Given the description of an element on the screen output the (x, y) to click on. 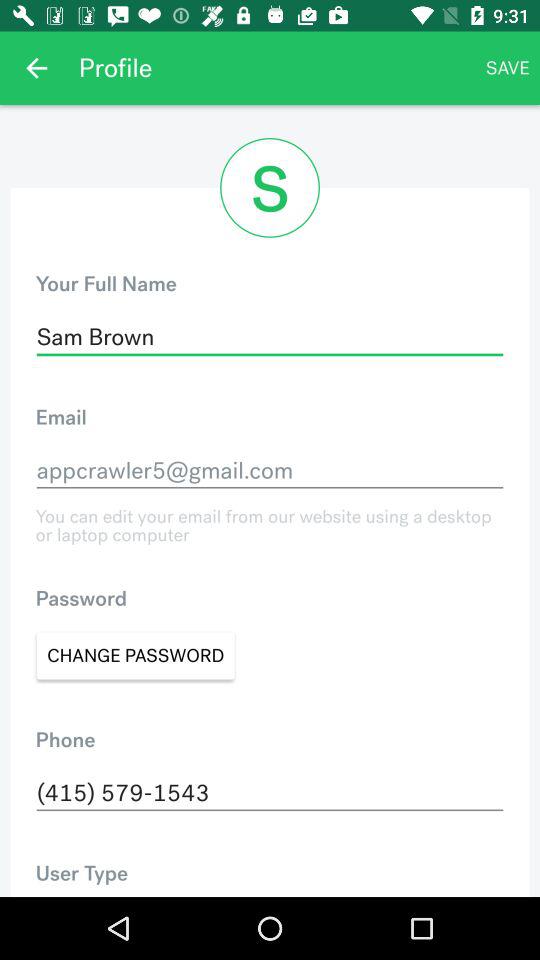
turn off the item below the email icon (269, 470)
